Given the description of an element on the screen output the (x, y) to click on. 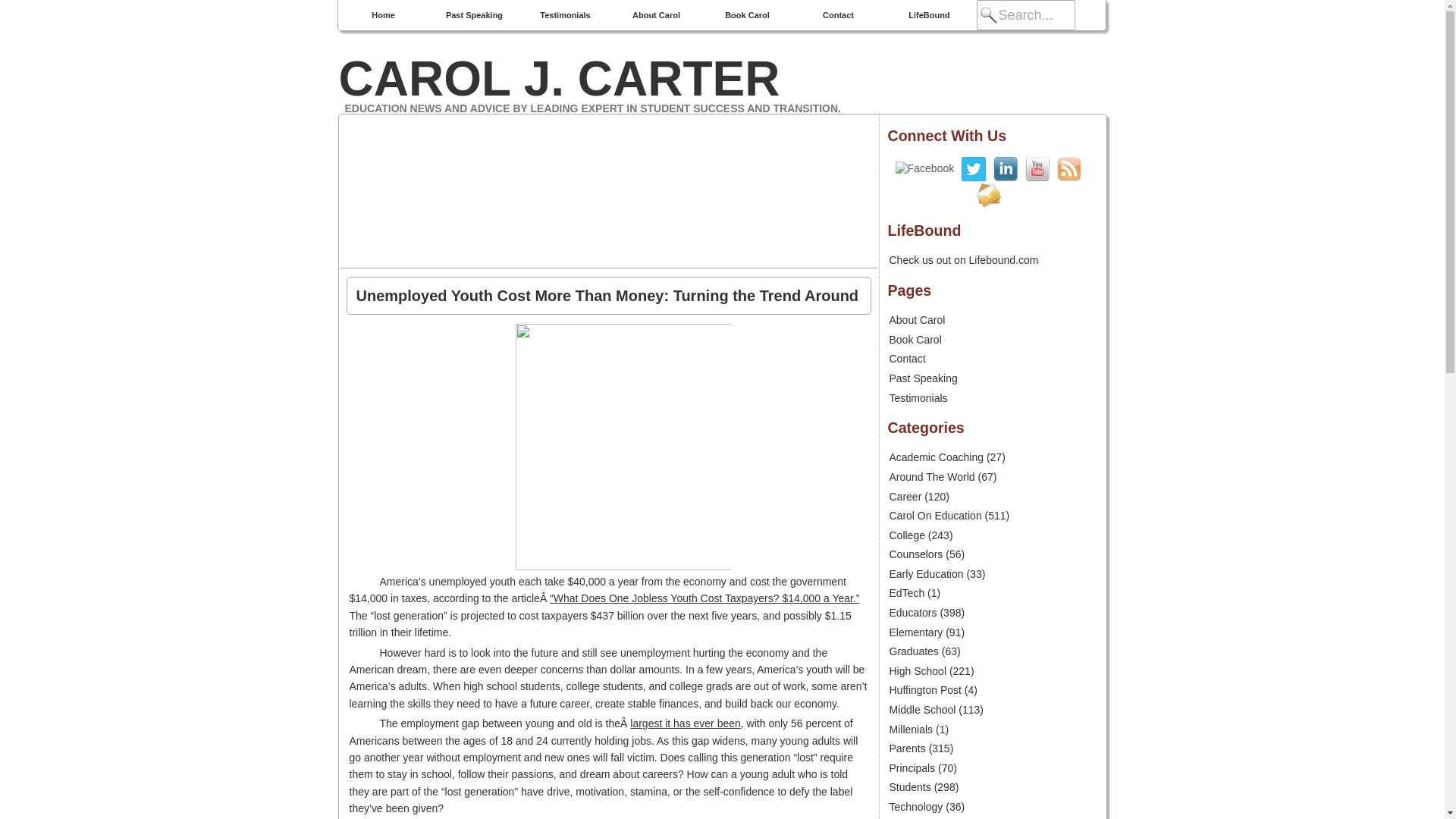
Past Speaking (474, 15)
Book Carol (747, 15)
Home (383, 15)
Contact (838, 15)
About Carol (656, 15)
CAROL J. CARTER (721, 78)
Search... (1025, 15)
Testimonials (565, 15)
LifeBound (929, 15)
